Given the description of an element on the screen output the (x, y) to click on. 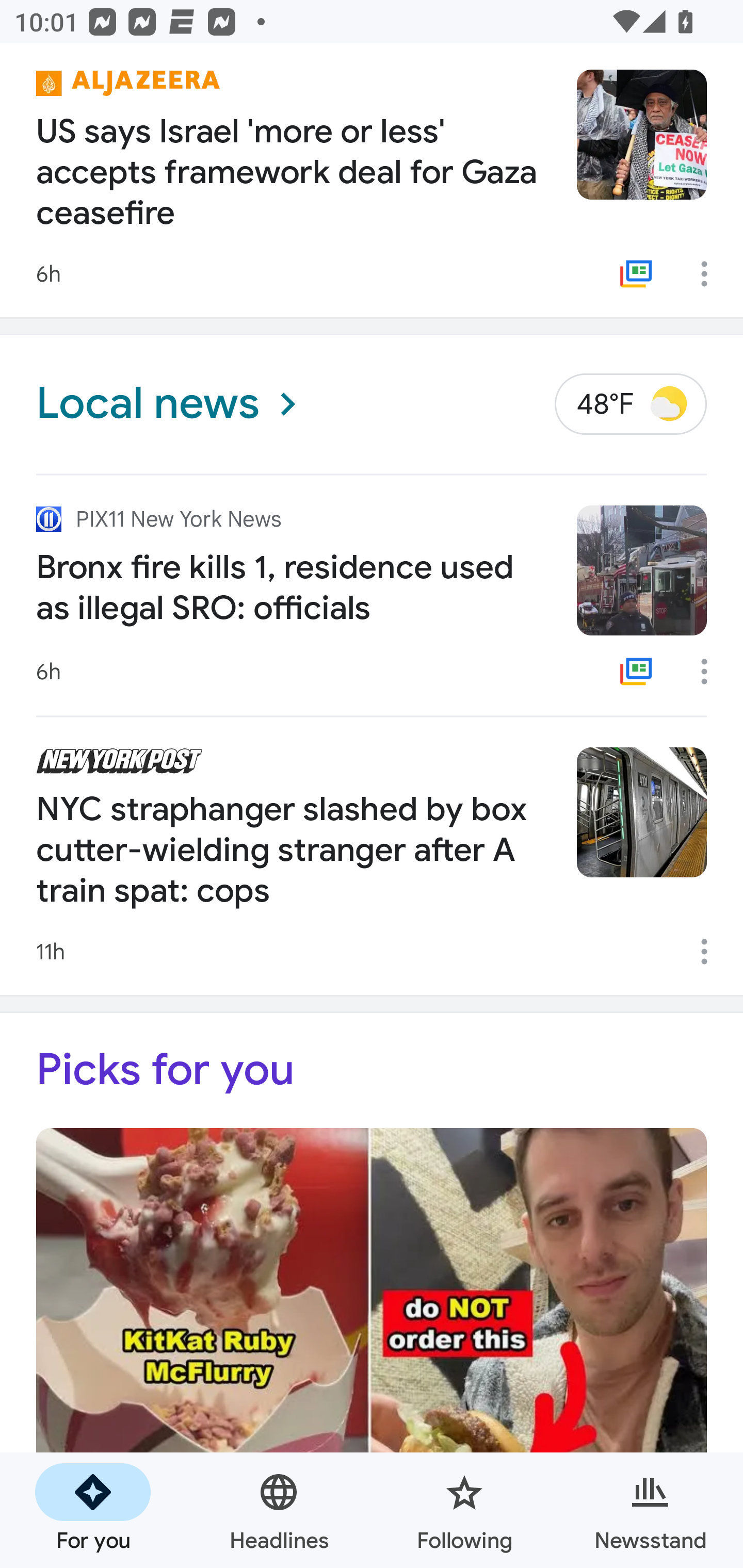
More options (711, 273)
More options (711, 671)
More options (711, 951)
For you (92, 1509)
Headlines (278, 1509)
Following (464, 1509)
Newsstand (650, 1509)
